Given the description of an element on the screen output the (x, y) to click on. 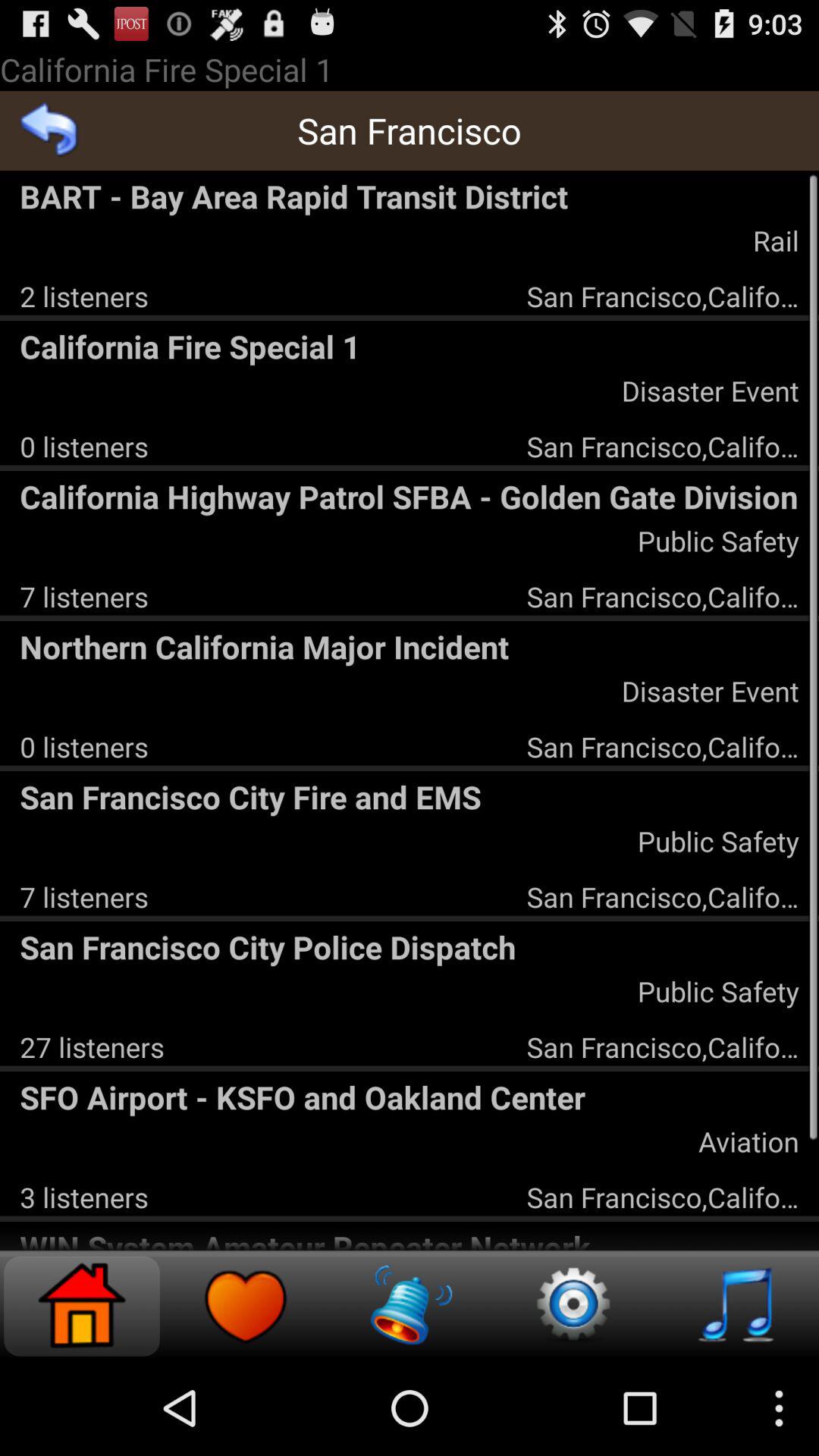
turn on northern california major (409, 646)
